Given the description of an element on the screen output the (x, y) to click on. 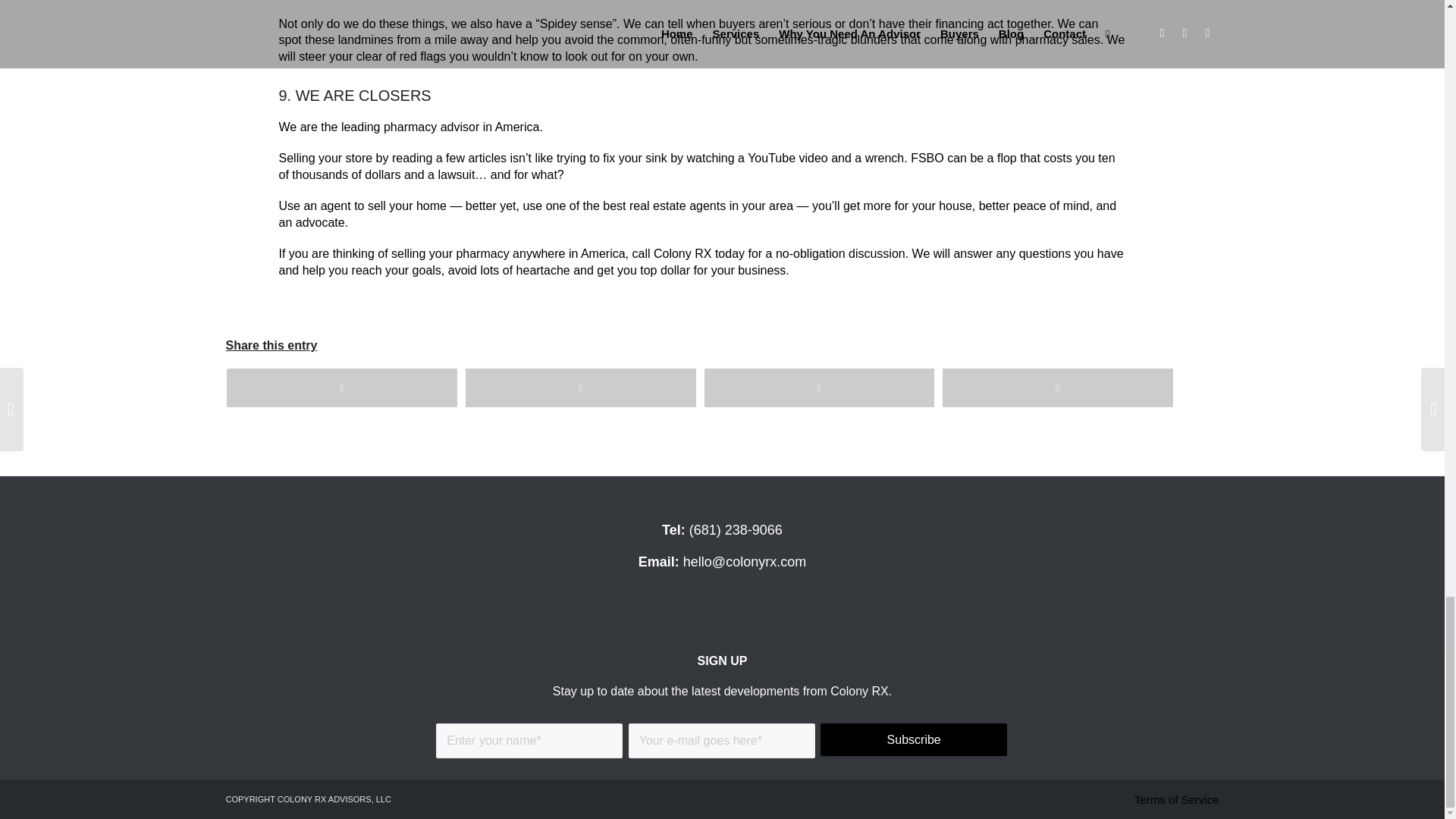
Terms of Service (1177, 799)
Subscribe (914, 739)
Subscribe (914, 739)
